Given the description of an element on the screen output the (x, y) to click on. 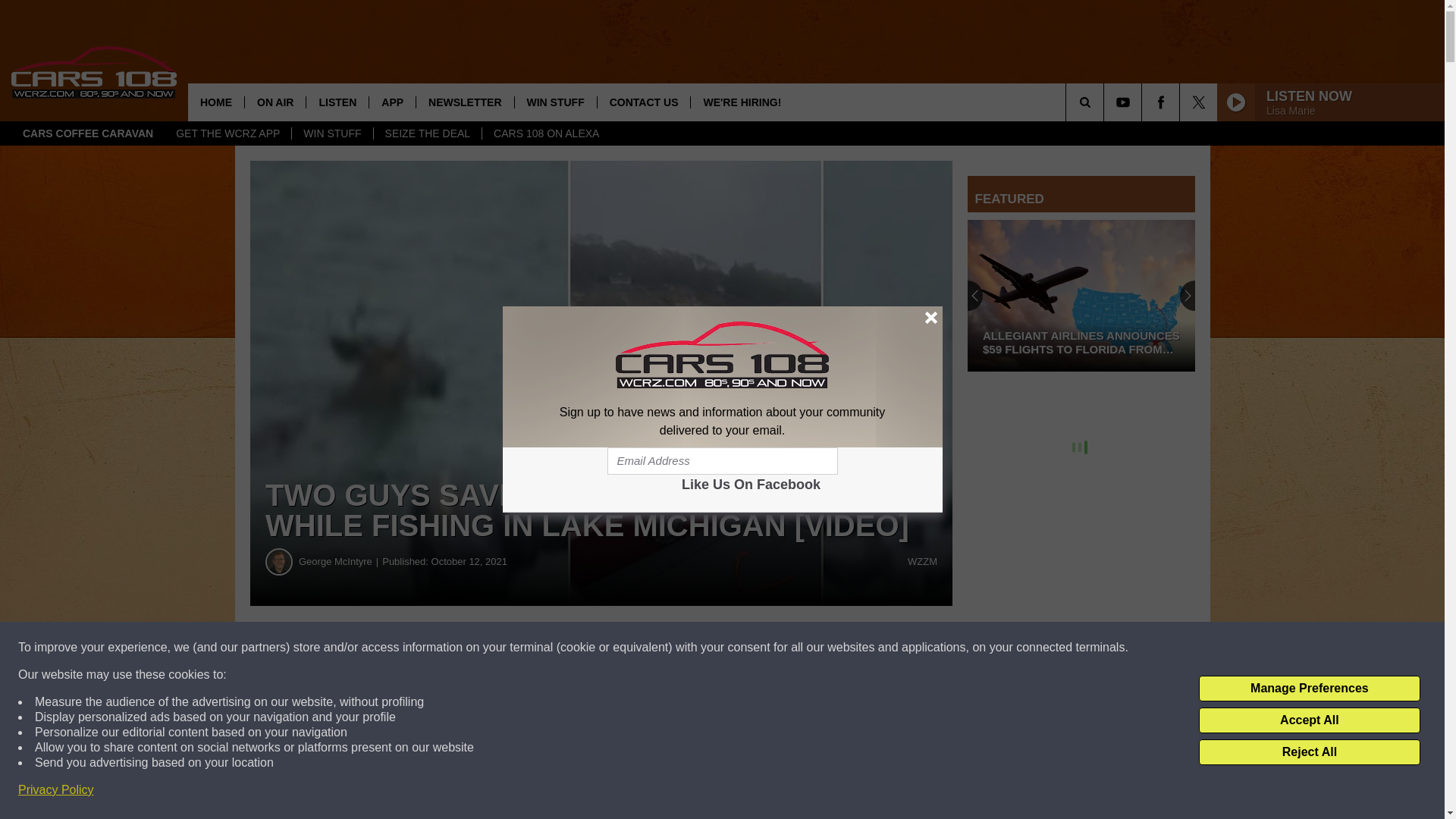
ON AIR (274, 102)
Email Address (722, 461)
SEARCH (1106, 102)
GET THE WCRZ APP (227, 133)
WIN STUFF (331, 133)
Reject All (1309, 751)
Share on Twitter (741, 647)
Accept All (1309, 720)
WE'RE HIRING! (741, 102)
CONTACT US (643, 102)
CARS COFFEE CARAVAN (87, 133)
LISTEN (336, 102)
SEIZE THE DEAL (426, 133)
CARS 108 ON ALEXA (545, 133)
APP (391, 102)
